Given the description of an element on the screen output the (x, y) to click on. 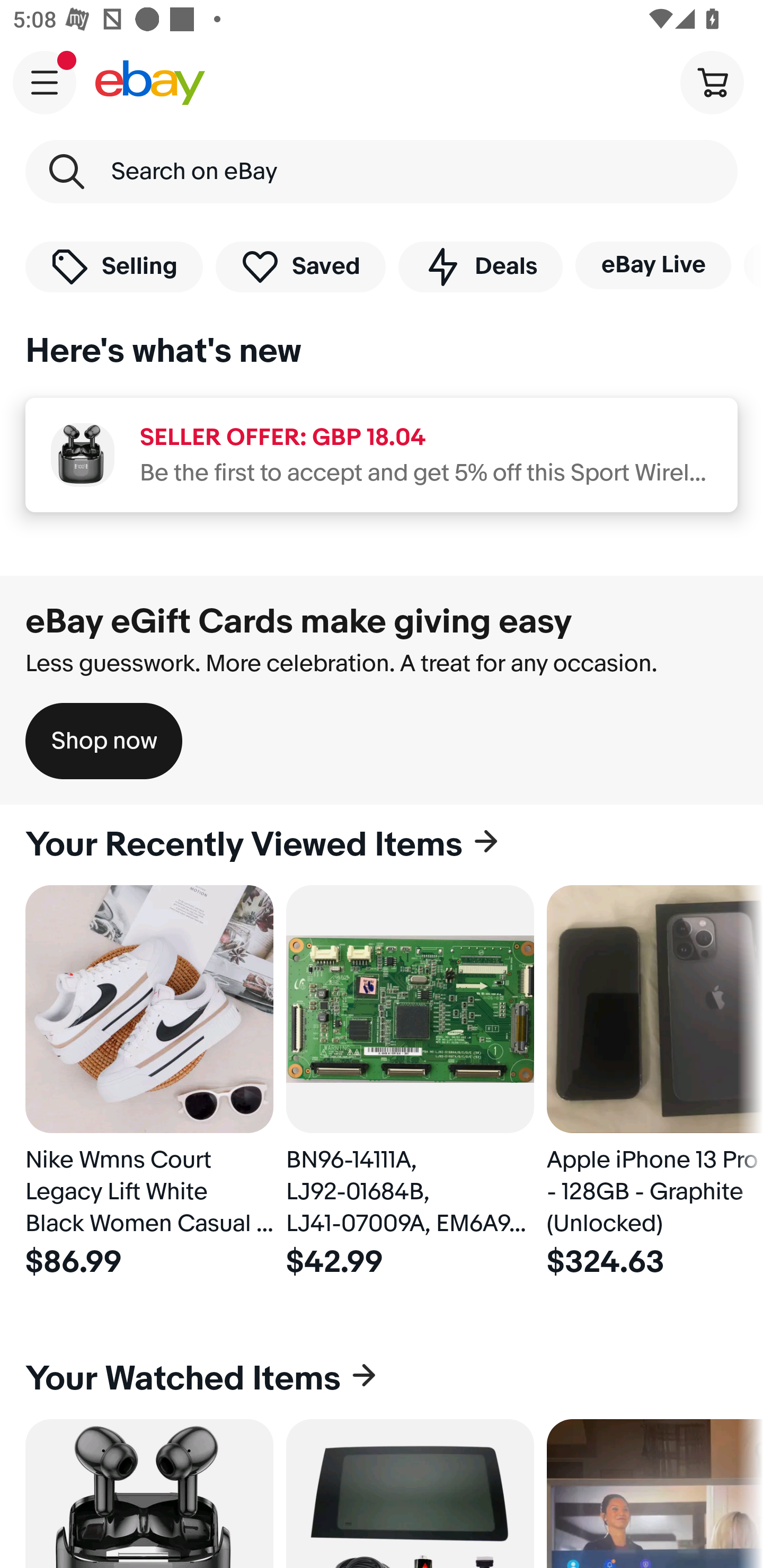
Main navigation, notification is pending, open (44, 82)
Cart button shopping cart (711, 81)
Search on eBay Search Keyword Search on eBay (381, 171)
Selling (113, 266)
Saved (300, 266)
Deals (480, 266)
eBay Live (652, 264)
eBay eGift Cards make giving easy (298, 621)
Shop now (103, 740)
Your Recently Viewed Items   (381, 844)
Your Watched Items   (381, 1379)
